Given the description of an element on the screen output the (x, y) to click on. 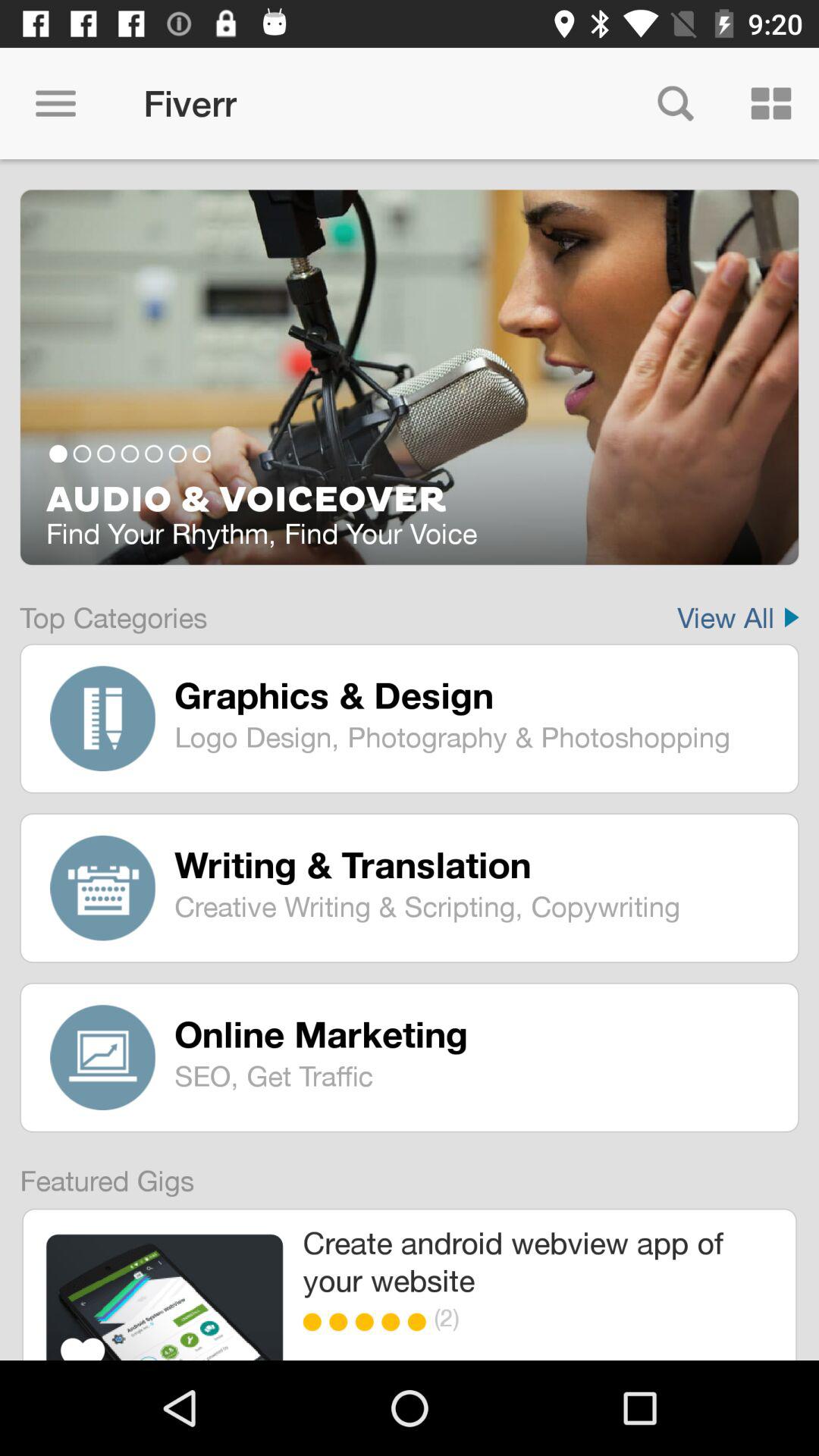
press the item below create android webview icon (420, 1322)
